Given the description of an element on the screen output the (x, y) to click on. 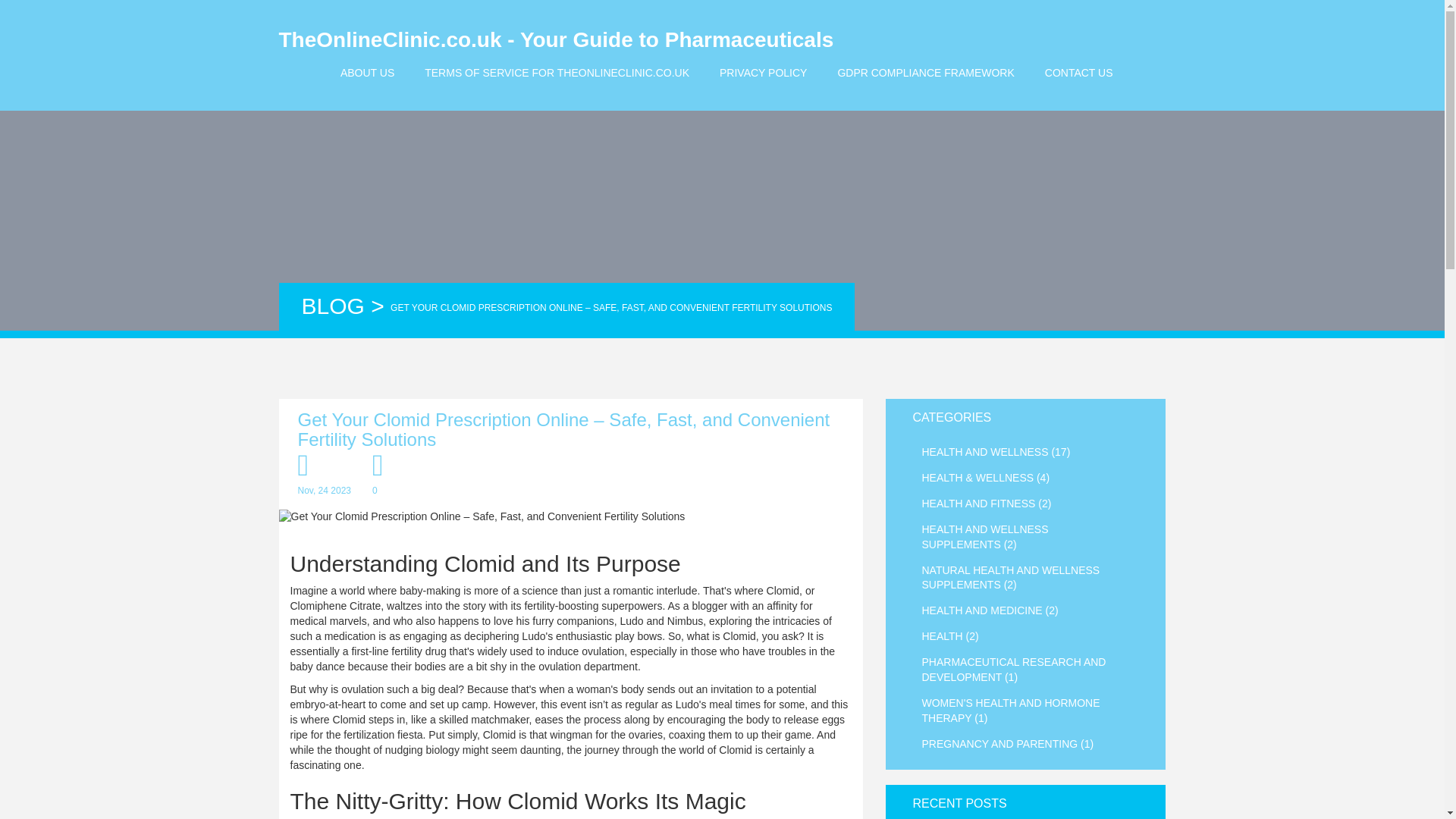
TheOnlineClinic.co.uk - Your Guide to Pharmaceuticals (556, 40)
CONTACT US (1078, 72)
GDPR COMPLIANCE FRAMEWORK (925, 72)
PRIVACY POLICY (763, 72)
ABOUT US (366, 72)
TERMS OF SERVICE FOR THEONLINECLINIC.CO.UK (556, 72)
